Given the description of an element on the screen output the (x, y) to click on. 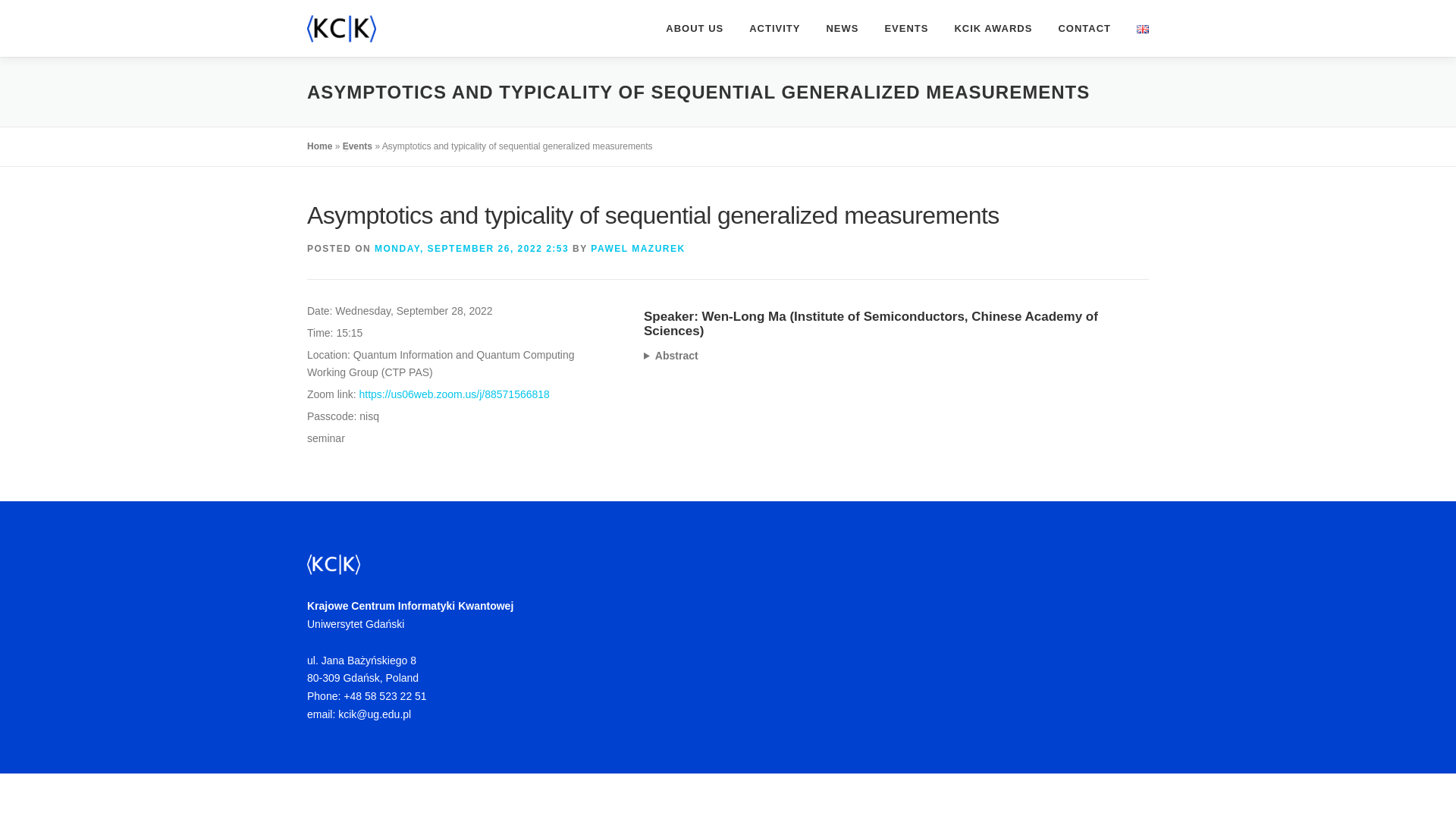
ABOUT US (694, 28)
Home (319, 145)
EVENTS (905, 28)
ACTIVITY (774, 28)
MONDAY, SEPTEMBER 26, 2022 2:53 (471, 248)
NEWS (841, 28)
KCIK AWARDS (992, 28)
Events (357, 145)
PAWEL MAZUREK (637, 248)
CONTACT (1084, 28)
